Given the description of an element on the screen output the (x, y) to click on. 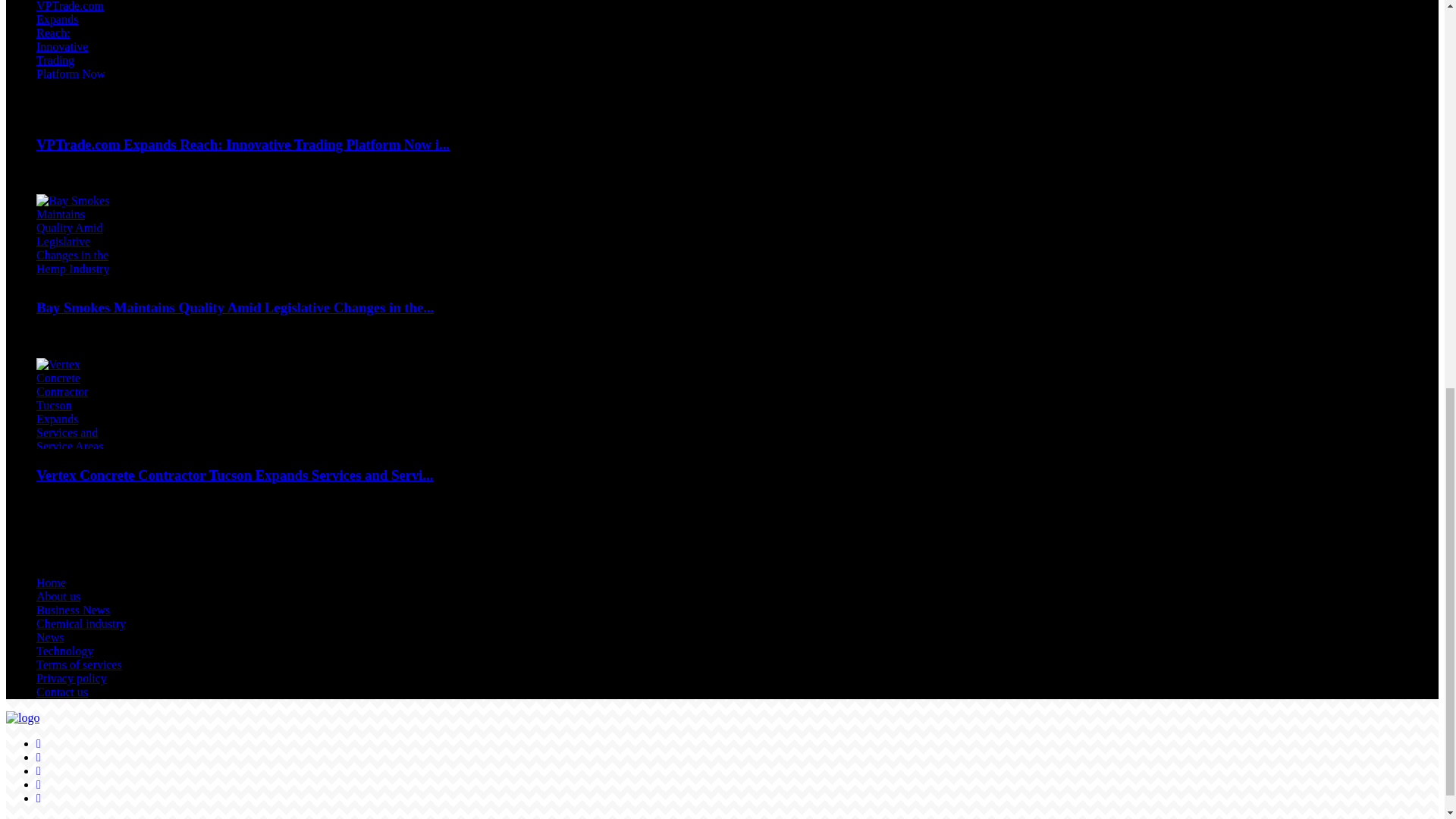
Technology (64, 650)
Terms of services (79, 664)
Business News (73, 609)
News (50, 636)
Chemical industry (80, 623)
Privacy policy (71, 677)
Contact us (61, 691)
About us (58, 595)
Home (50, 582)
